Given the description of an element on the screen output the (x, y) to click on. 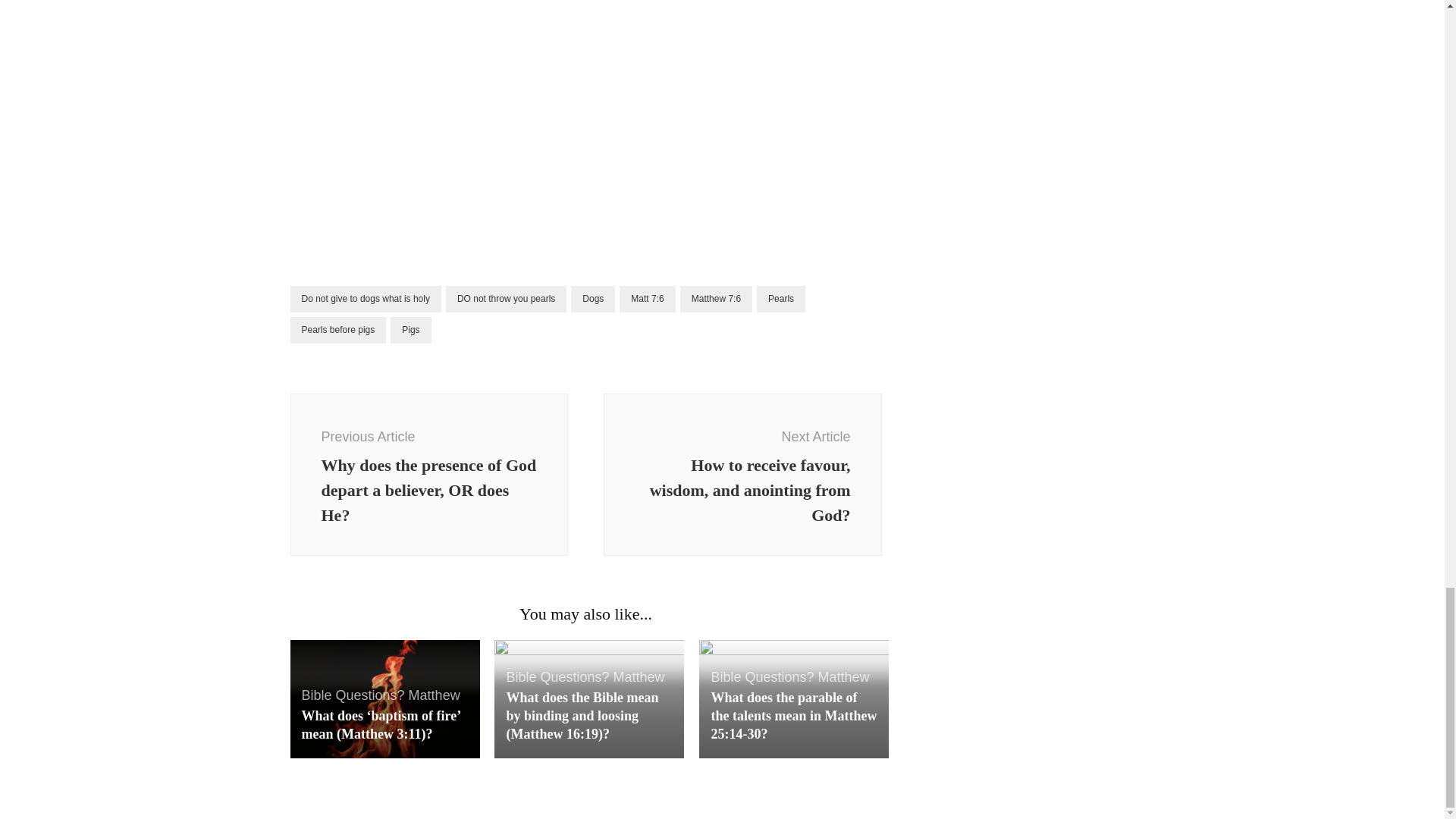
Bible Questions? (352, 694)
DO not throw you pearls (505, 298)
Matt 7:6 (647, 298)
Dogs (592, 298)
Do not give to dogs what is holy (365, 298)
Pearls (781, 298)
Pearls before pigs (337, 329)
